Given the description of an element on the screen output the (x, y) to click on. 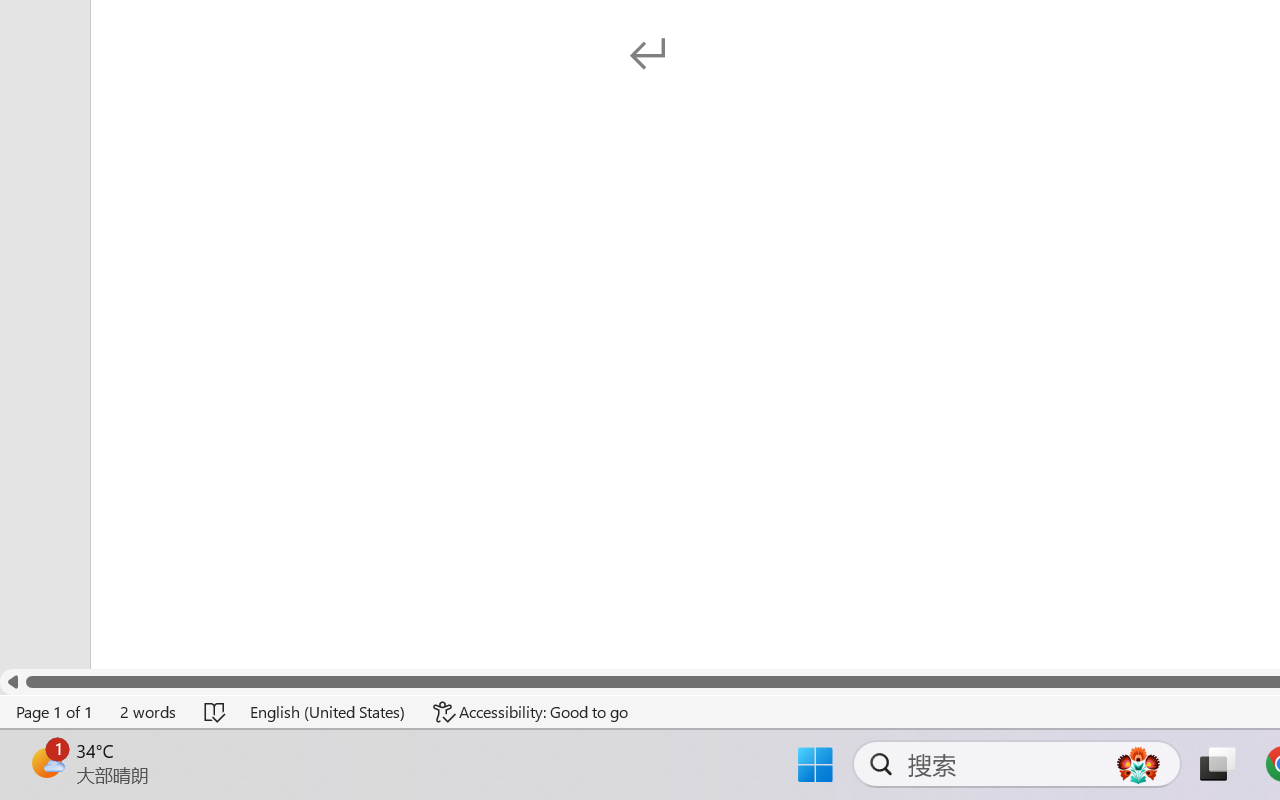
Column left (12, 681)
AutomationID: BadgeAnchorLargeTicker (46, 762)
Spelling and Grammar Check No Errors (216, 712)
Accessibility Checker Accessibility: Good to go (531, 712)
Language English (United States) (328, 712)
Word Count 2 words (149, 712)
Page Number Page 1 of 1 (55, 712)
AutomationID: DynamicSearchBoxGleamImage (1138, 764)
